Given the description of an element on the screen output the (x, y) to click on. 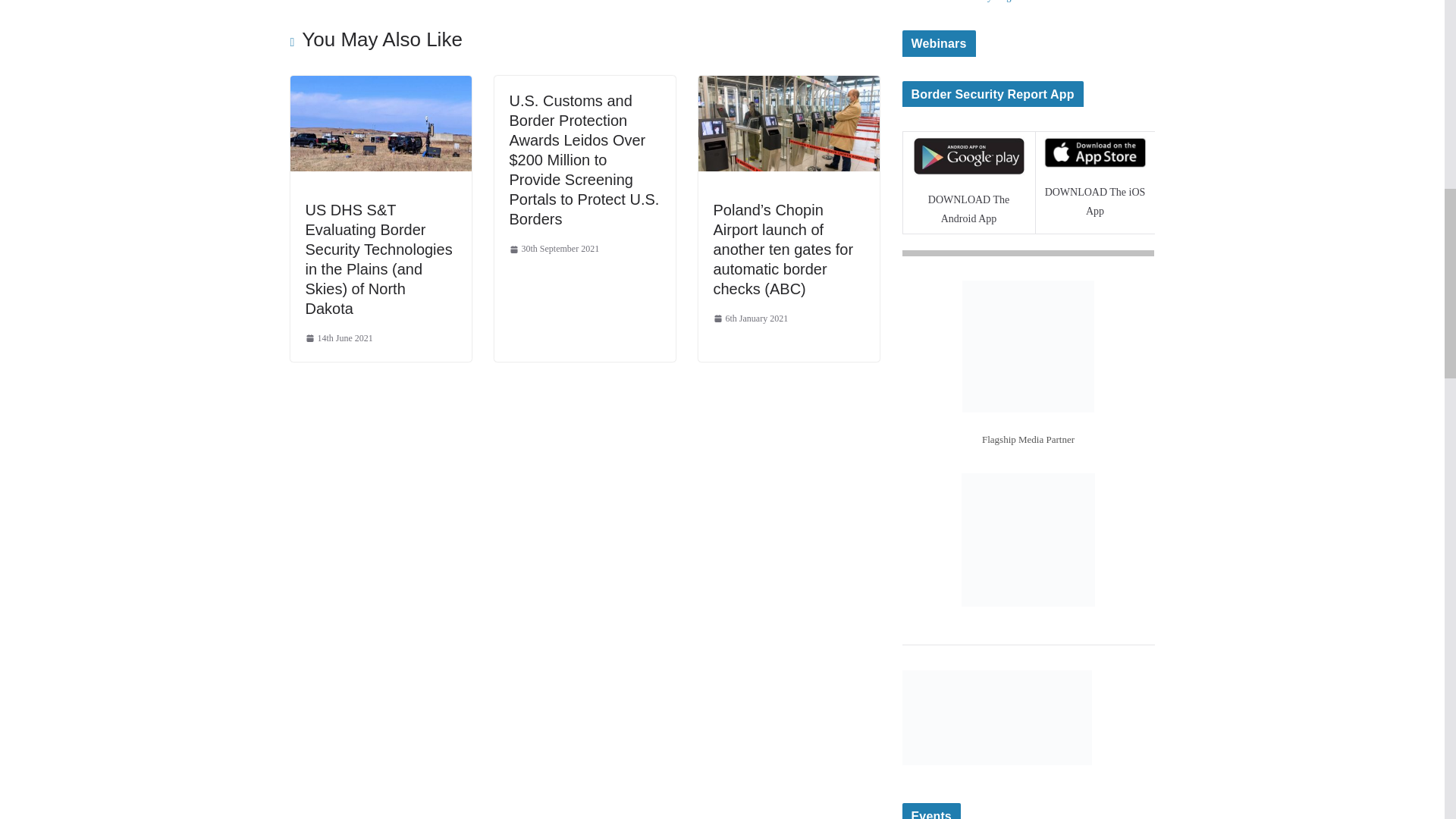
6th January 2021 (750, 319)
14th June 2021 (338, 338)
1:48 pm (554, 248)
9:37 am (750, 319)
30th September 2021 (554, 248)
9:05 am (338, 338)
